Given the description of an element on the screen output the (x, y) to click on. 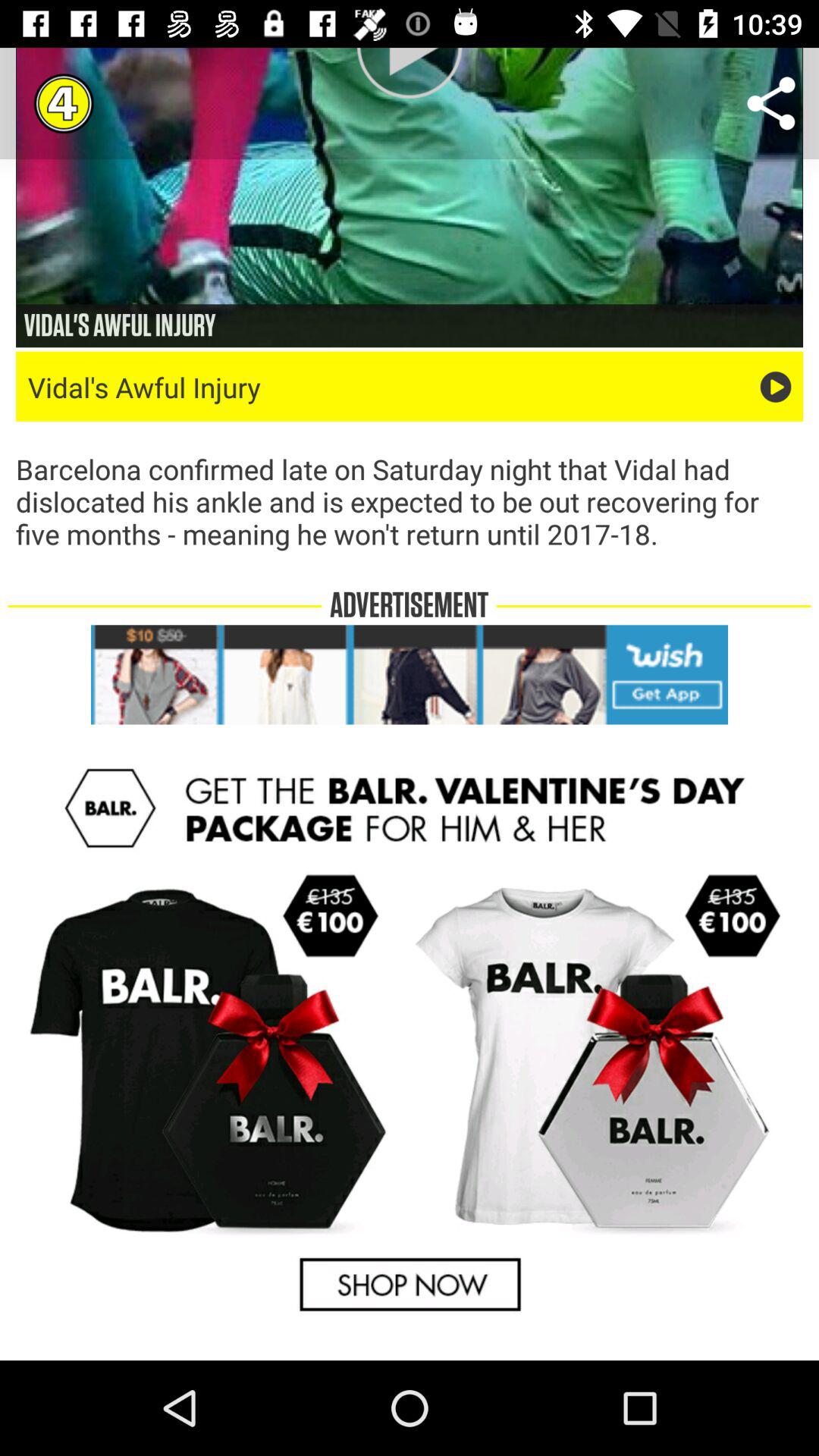
advatisment (409, 674)
